Given the description of an element on the screen output the (x, y) to click on. 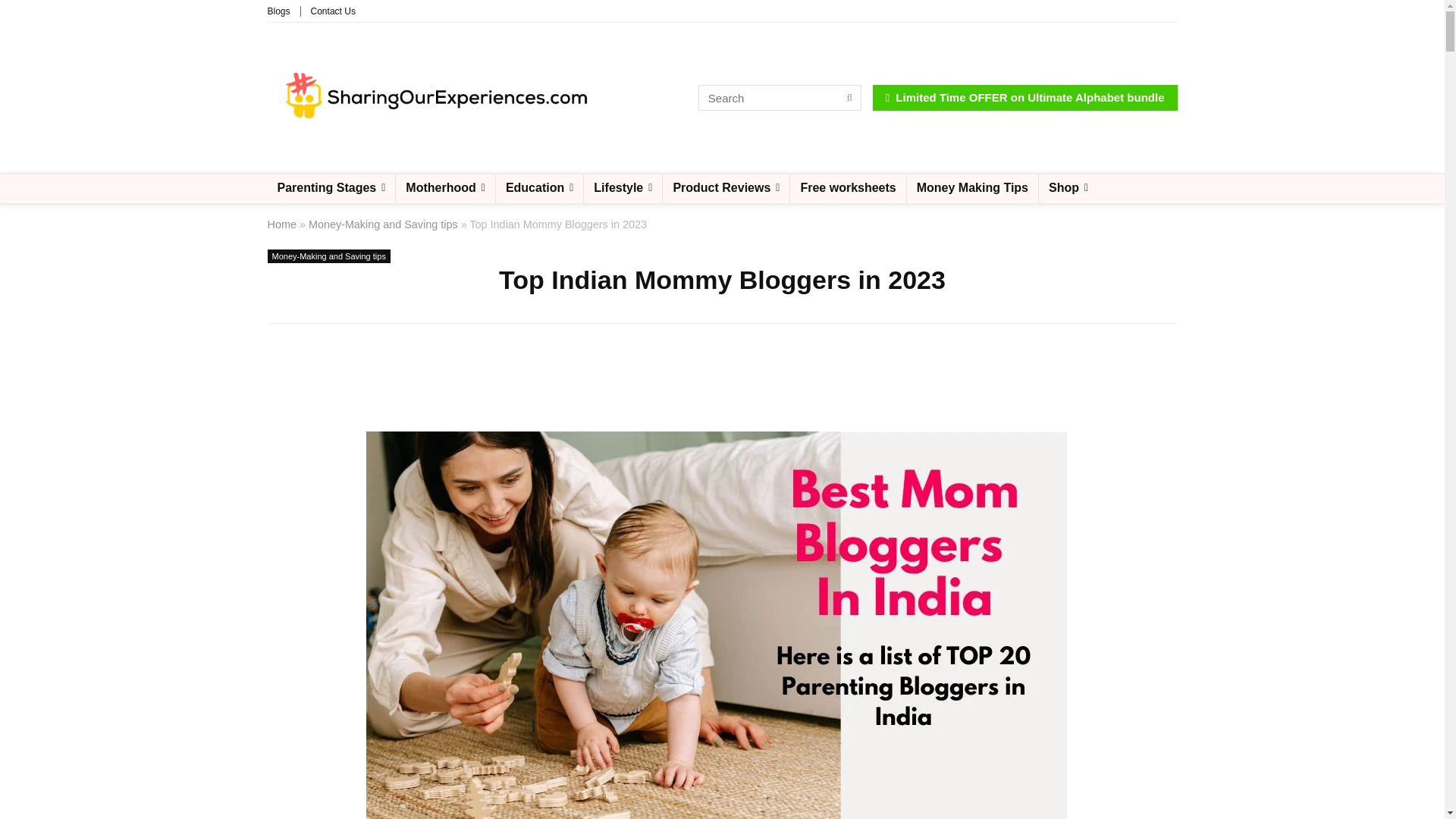
Education (539, 188)
Blogs (277, 10)
Motherhood (445, 188)
Lifestyle (622, 188)
Parenting Stages (330, 188)
Contact Us (333, 10)
Limited Time OFFER on Ultimate Alphabet bundle (1024, 97)
View all posts in Money-Making and Saving tips (328, 255)
Product Reviews (725, 188)
